Given the description of an element on the screen output the (x, y) to click on. 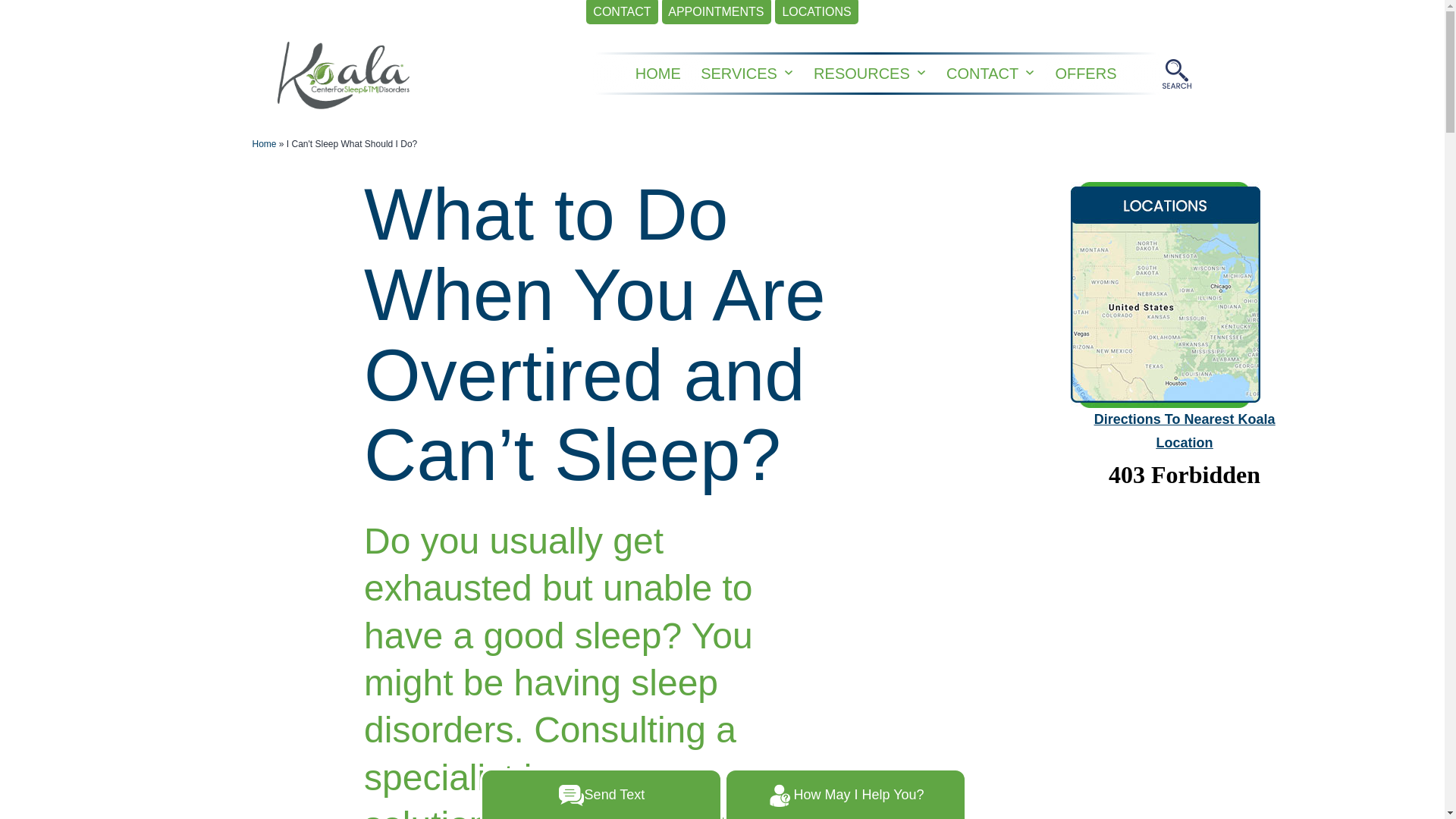
LOCATIONS (816, 12)
CONTACT (982, 72)
HOME (658, 72)
RESOURCES (861, 72)
SERVICES (738, 72)
APPOINTMENTS (716, 12)
CONTACT (622, 12)
